Given the description of an element on the screen output the (x, y) to click on. 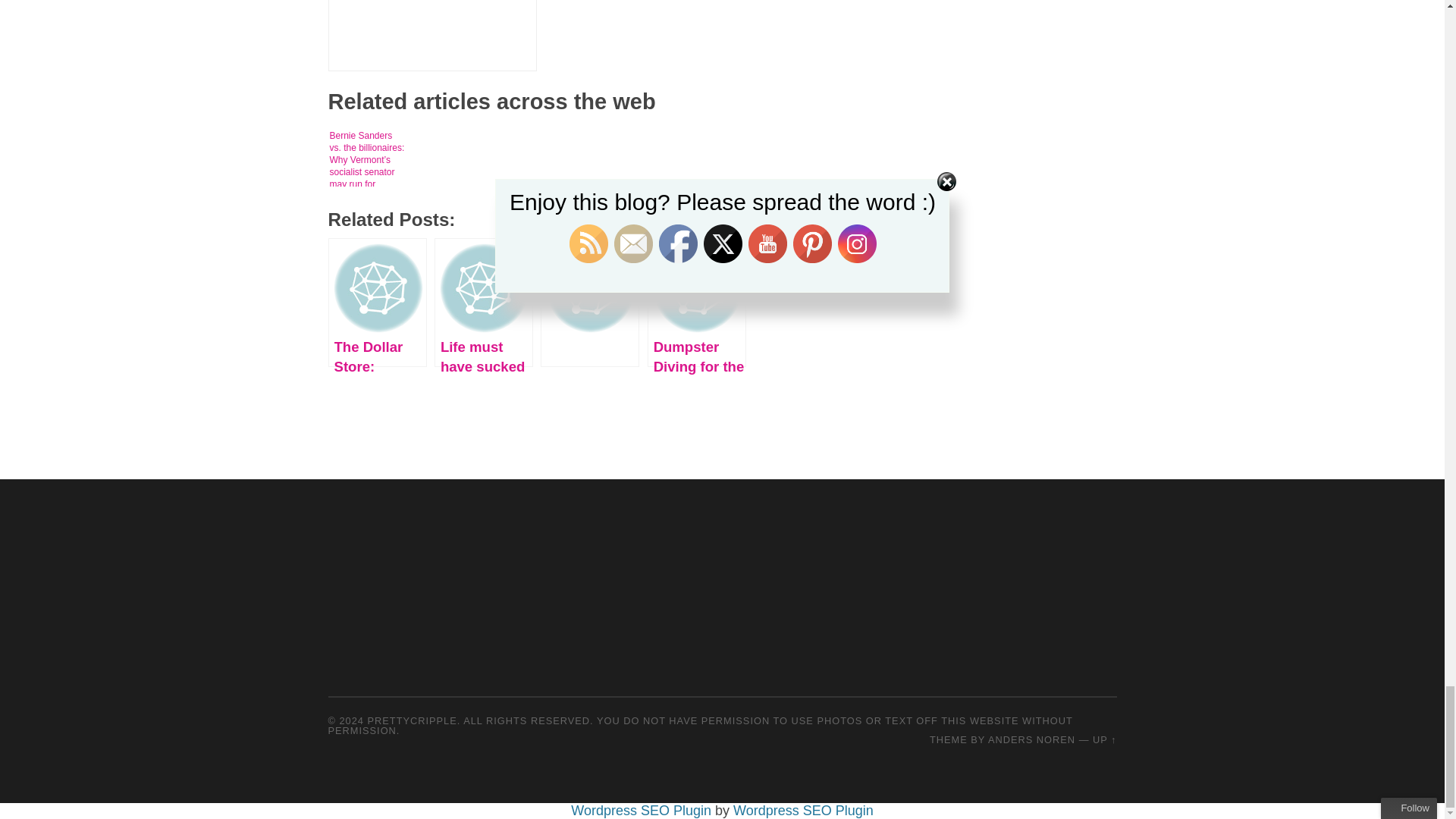
ANDERS NOREN (1031, 739)
To the top (1104, 739)
